Given the description of an element on the screen output the (x, y) to click on. 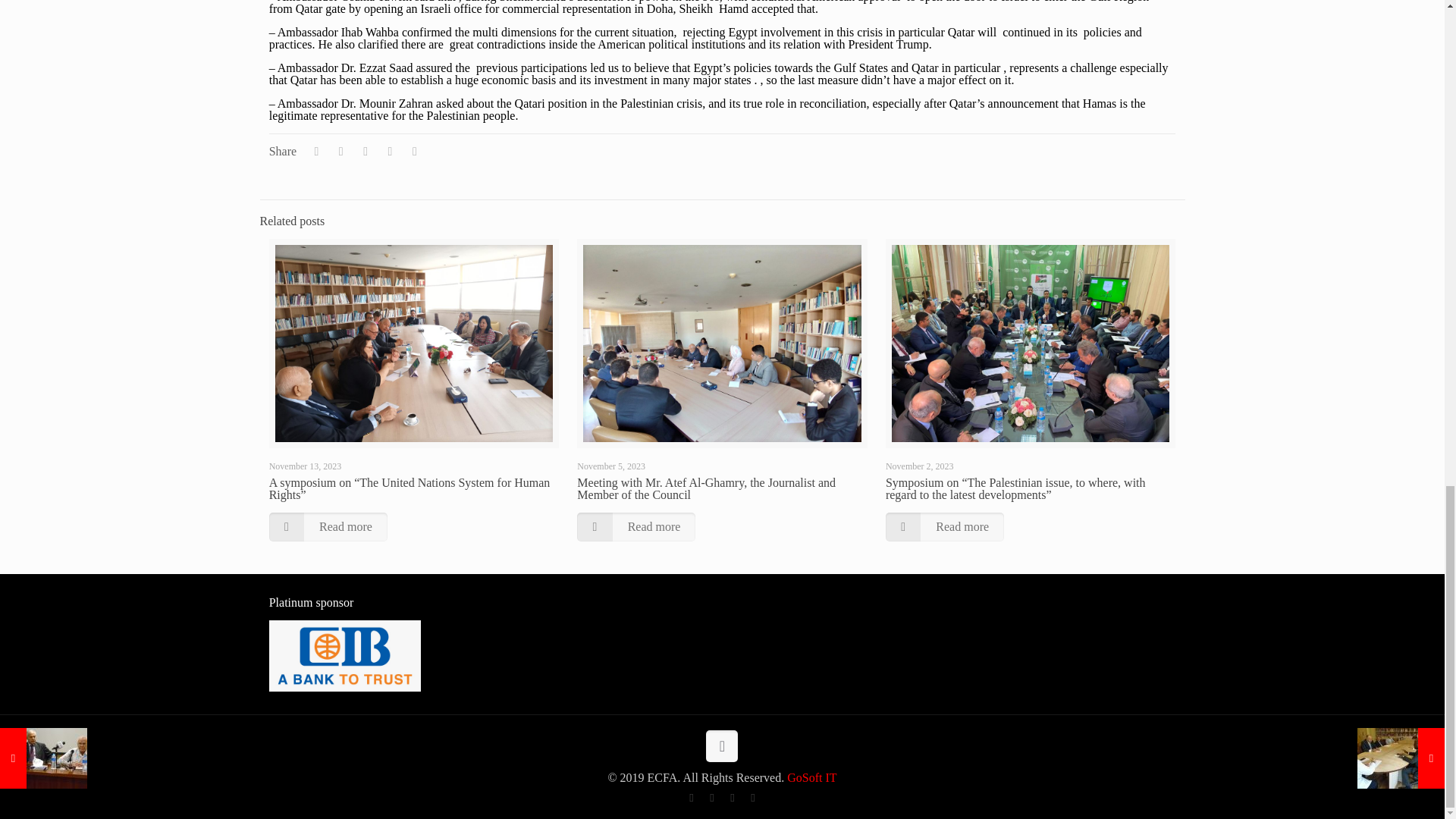
Instagram (752, 797)
YouTube (731, 797)
Facebook (690, 797)
Twitter (711, 797)
